Given the description of an element on the screen output the (x, y) to click on. 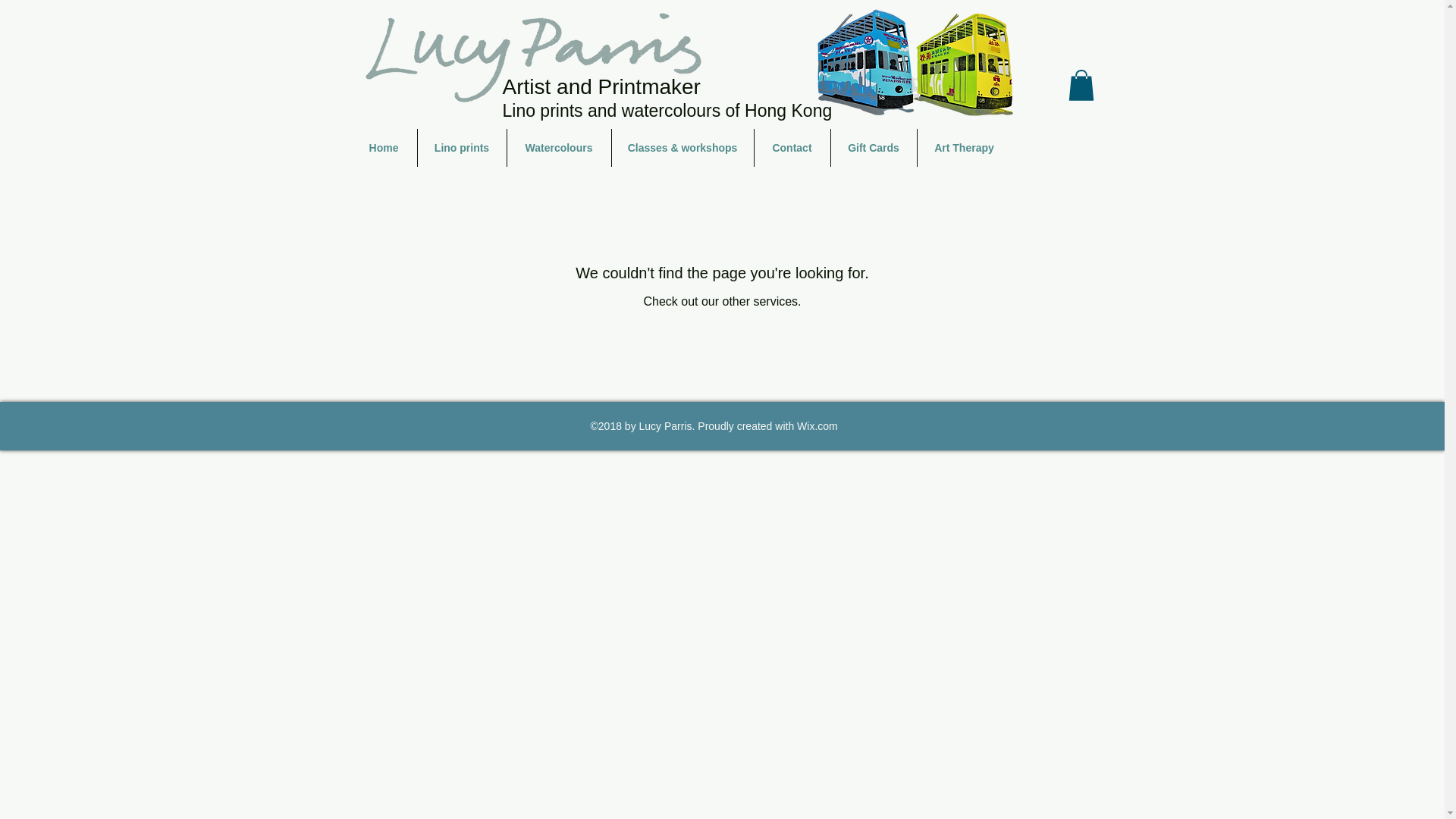
Home (383, 147)
Watercolours (558, 147)
Art Therapy (964, 147)
Gift Cards (874, 147)
Lino prints (460, 147)
Contact (791, 147)
